Given the description of an element on the screen output the (x, y) to click on. 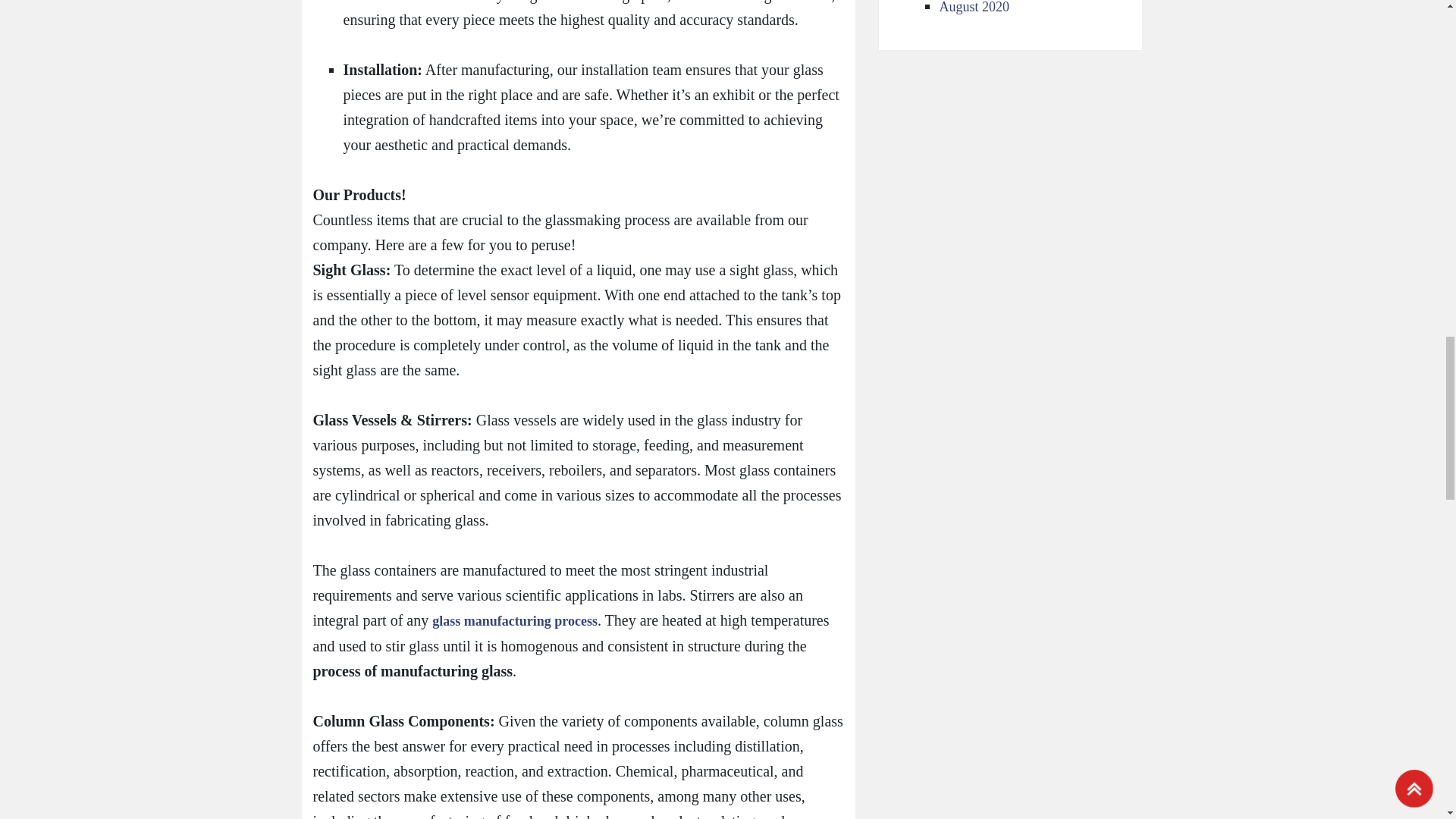
glass manufacturing process (514, 620)
